Given the description of an element on the screen output the (x, y) to click on. 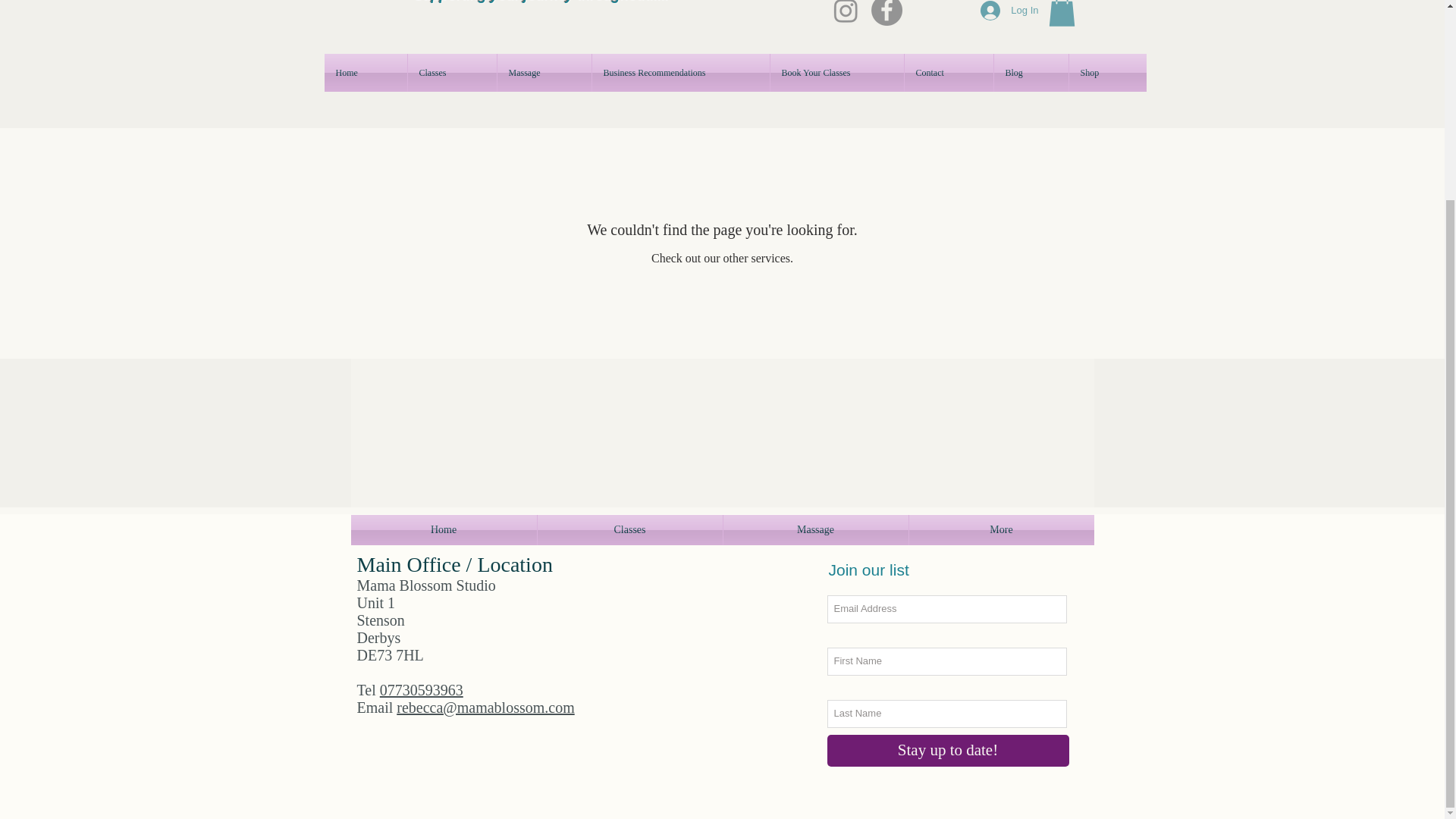
Log In (1008, 12)
Classes (451, 72)
Book Your Classes (837, 72)
Contact (948, 72)
Home (365, 72)
Blog (1029, 72)
Business Recommendations (679, 72)
Shop (1107, 72)
Massage (544, 72)
